Given the description of an element on the screen output the (x, y) to click on. 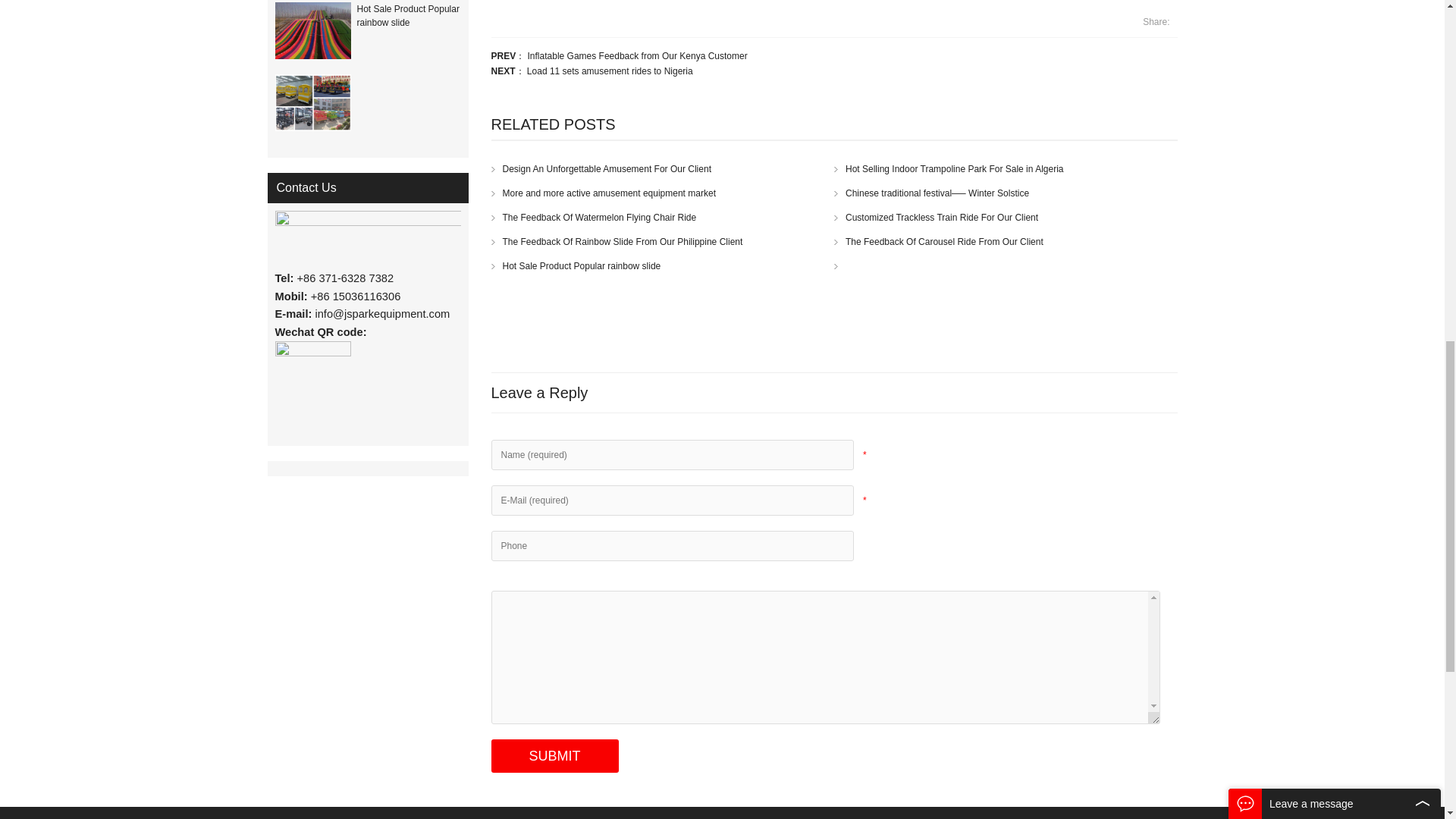
SUBMIT (555, 756)
Hot Selling Indoor Trampoline Park For Sale in Algeria (948, 168)
The Feedback Of Watermelon Flying Chair Ride (594, 217)
Customized Trackless Train Ride For Our Client (936, 217)
Post Comment (555, 756)
More and more active amusement equipment market (604, 193)
Inflatable Games Feedback from Our Kenya Customer (637, 55)
Design An Unforgettable Amusement For Our Client (601, 168)
Load 11 sets amusement rides to Nigeria (610, 71)
